Given the description of an element on the screen output the (x, y) to click on. 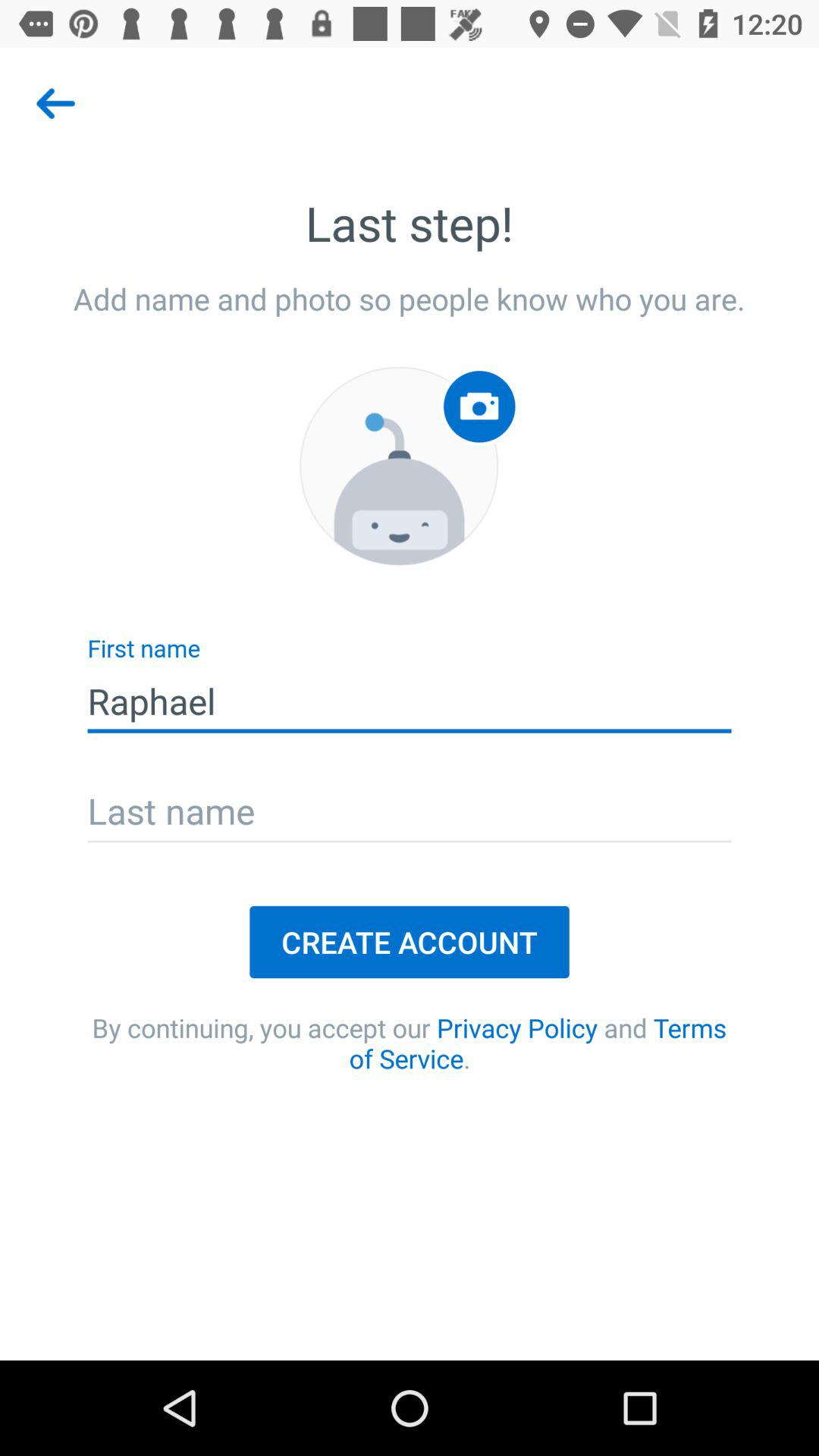
press the by continuing you item (409, 1043)
